Given the description of an element on the screen output the (x, y) to click on. 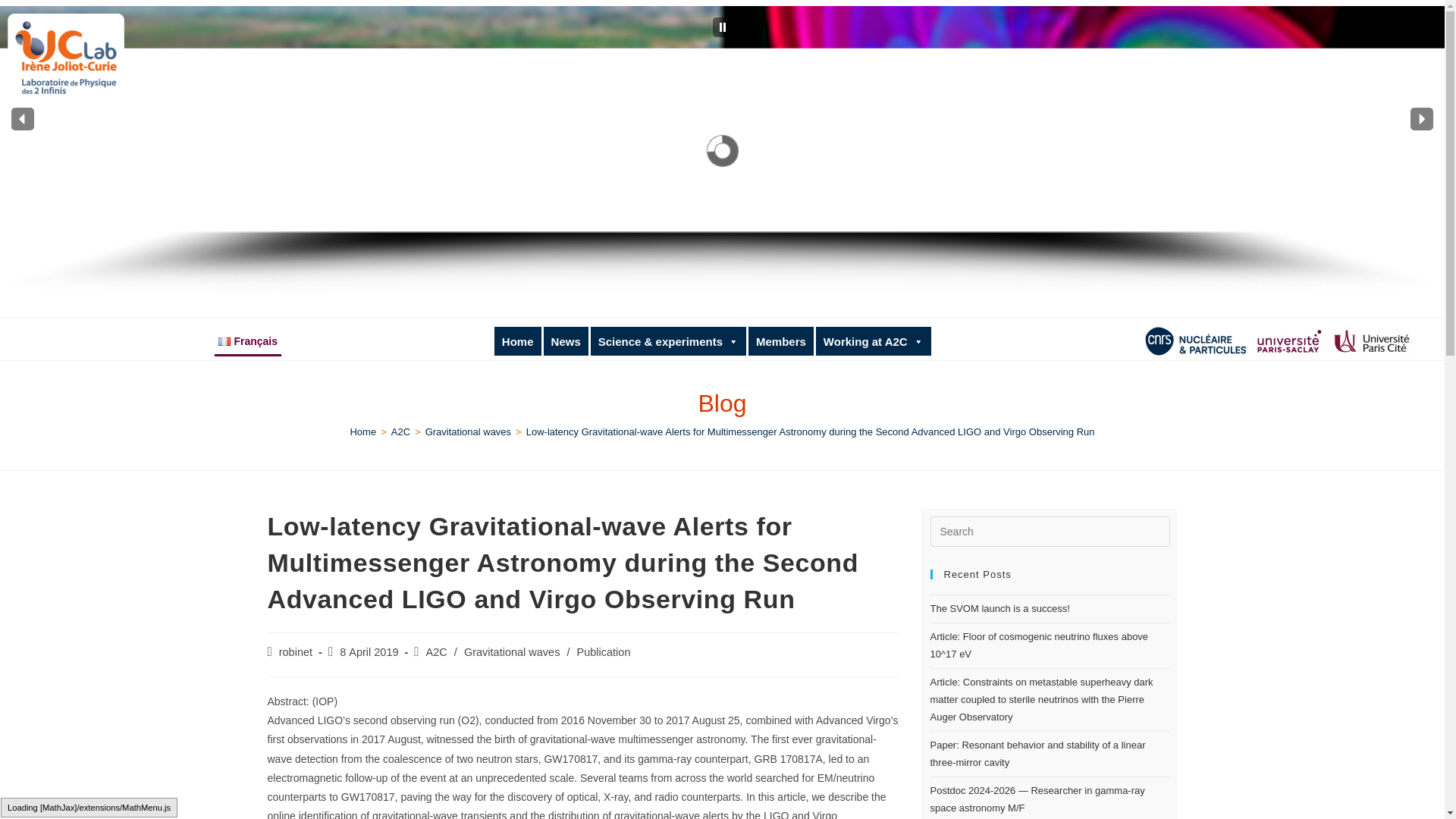
Home (517, 340)
News (566, 340)
Working at A2C (873, 340)
logo-CNRS-nucleaire-particules-h100 (1195, 340)
univparis-smal-barre (1371, 340)
Members (780, 340)
Posts by robinet (296, 652)
logo PS bandeau (1289, 340)
